Given the description of an element on the screen output the (x, y) to click on. 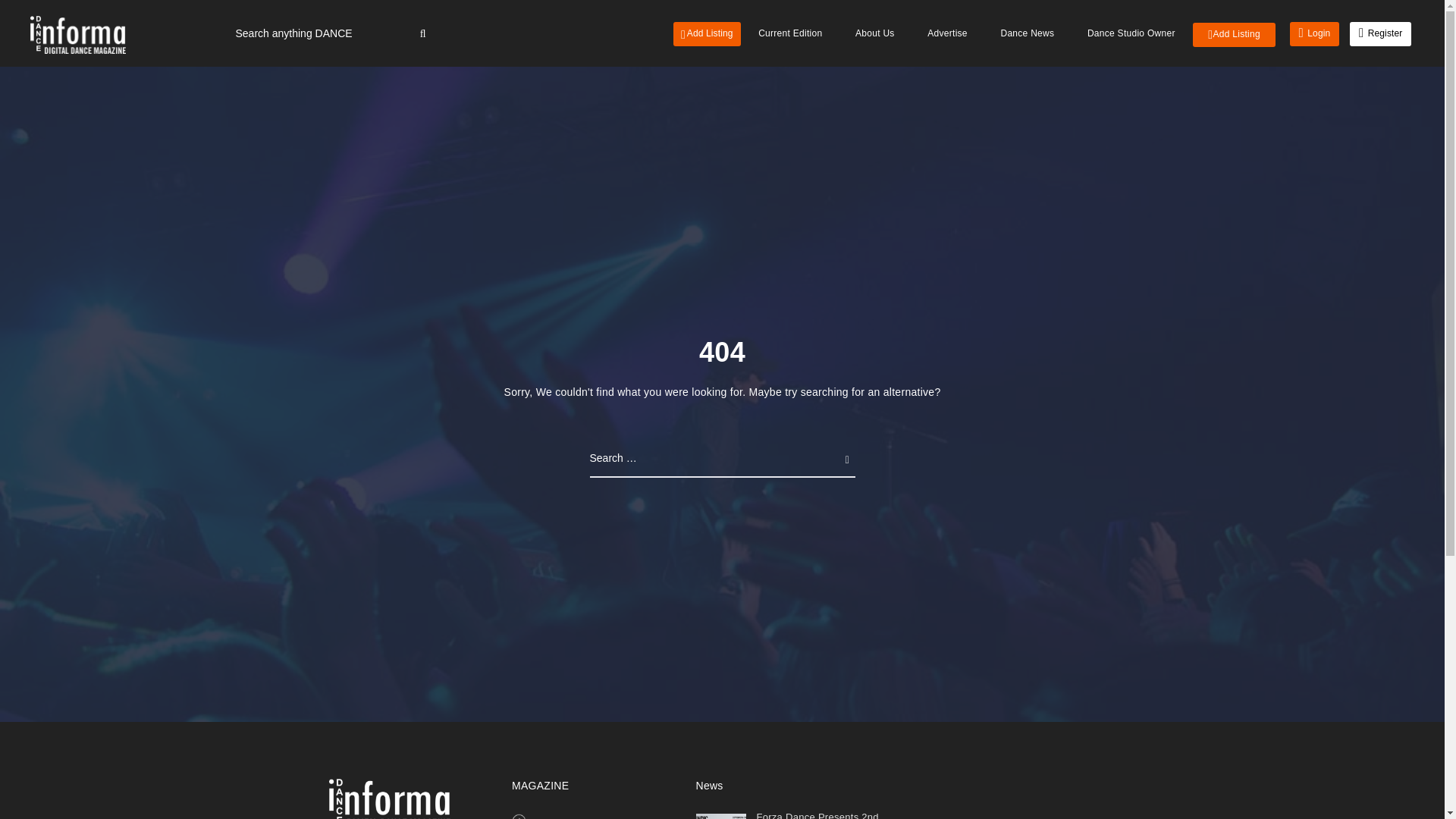
Login (1313, 33)
Add Listing (1233, 34)
Dance News (1026, 33)
About Us (875, 33)
Current Edition (789, 33)
Add Listing (706, 33)
Register (1379, 33)
Dance Studio Owner (1131, 33)
Advertise (947, 33)
Current Edition (569, 817)
